Given the description of an element on the screen output the (x, y) to click on. 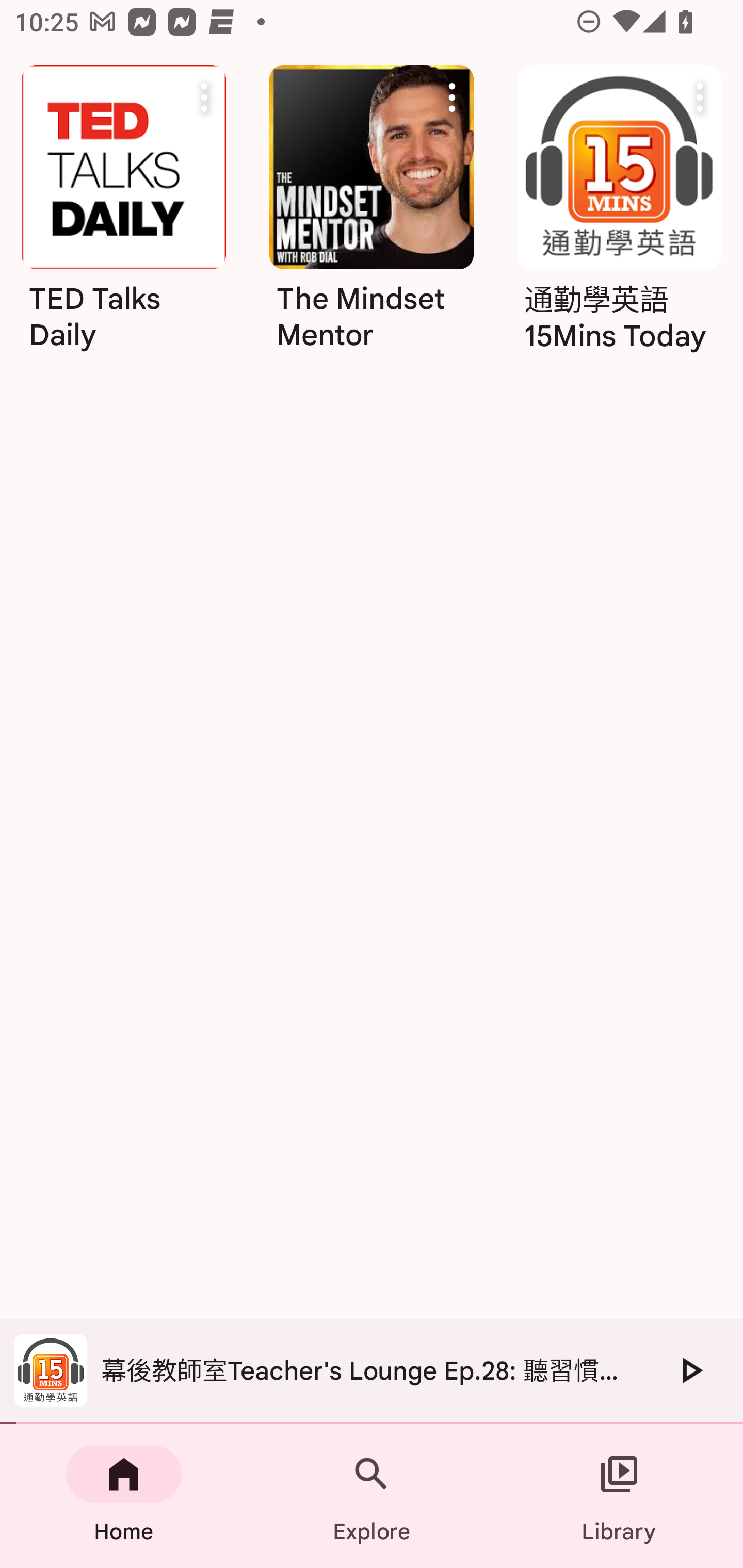
TED Talks Daily More actions TED Talks Daily (123, 214)
The Mindset Mentor More actions The Mindset Mentor (371, 214)
通勤學英語 15Mins Today More actions 通勤學英語 15Mins Today (619, 214)
More actions (203, 97)
More actions (452, 97)
More actions (699, 97)
Play (690, 1370)
Explore (371, 1495)
Library (619, 1495)
